Given the description of an element on the screen output the (x, y) to click on. 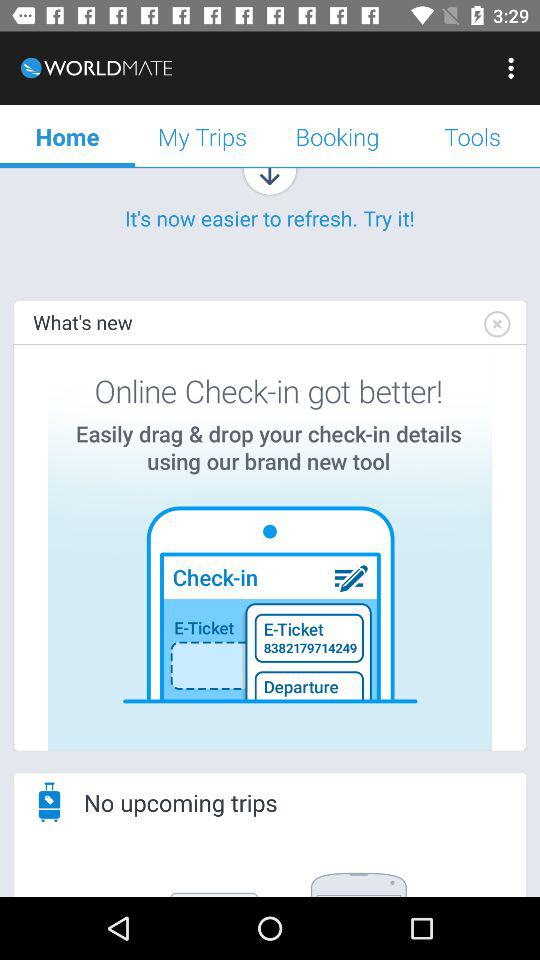
launch app next to the booking icon (513, 67)
